Given the description of an element on the screen output the (x, y) to click on. 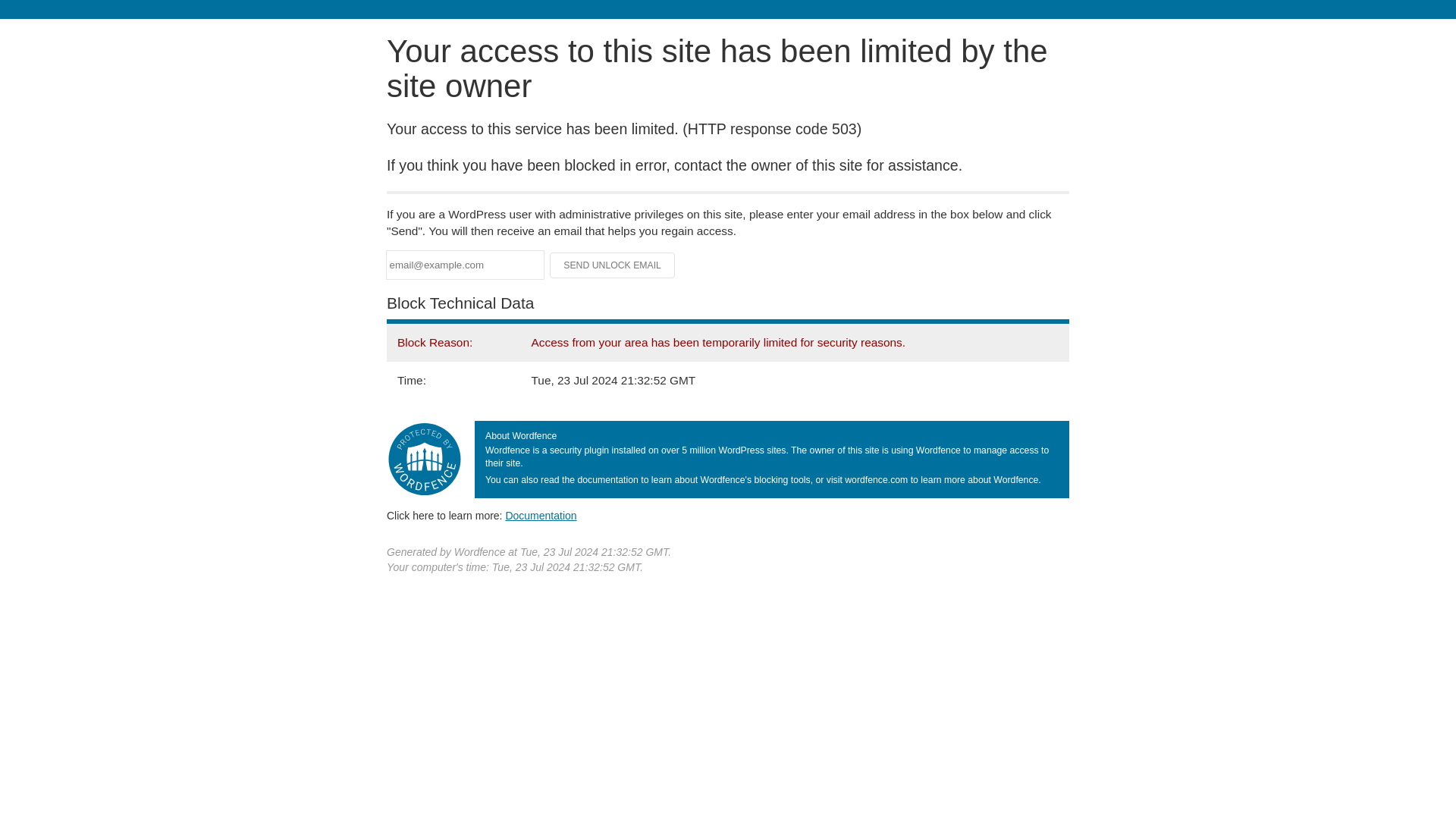
Send Unlock Email (612, 265)
Send Unlock Email (612, 265)
Documentation (540, 515)
